Given the description of an element on the screen output the (x, y) to click on. 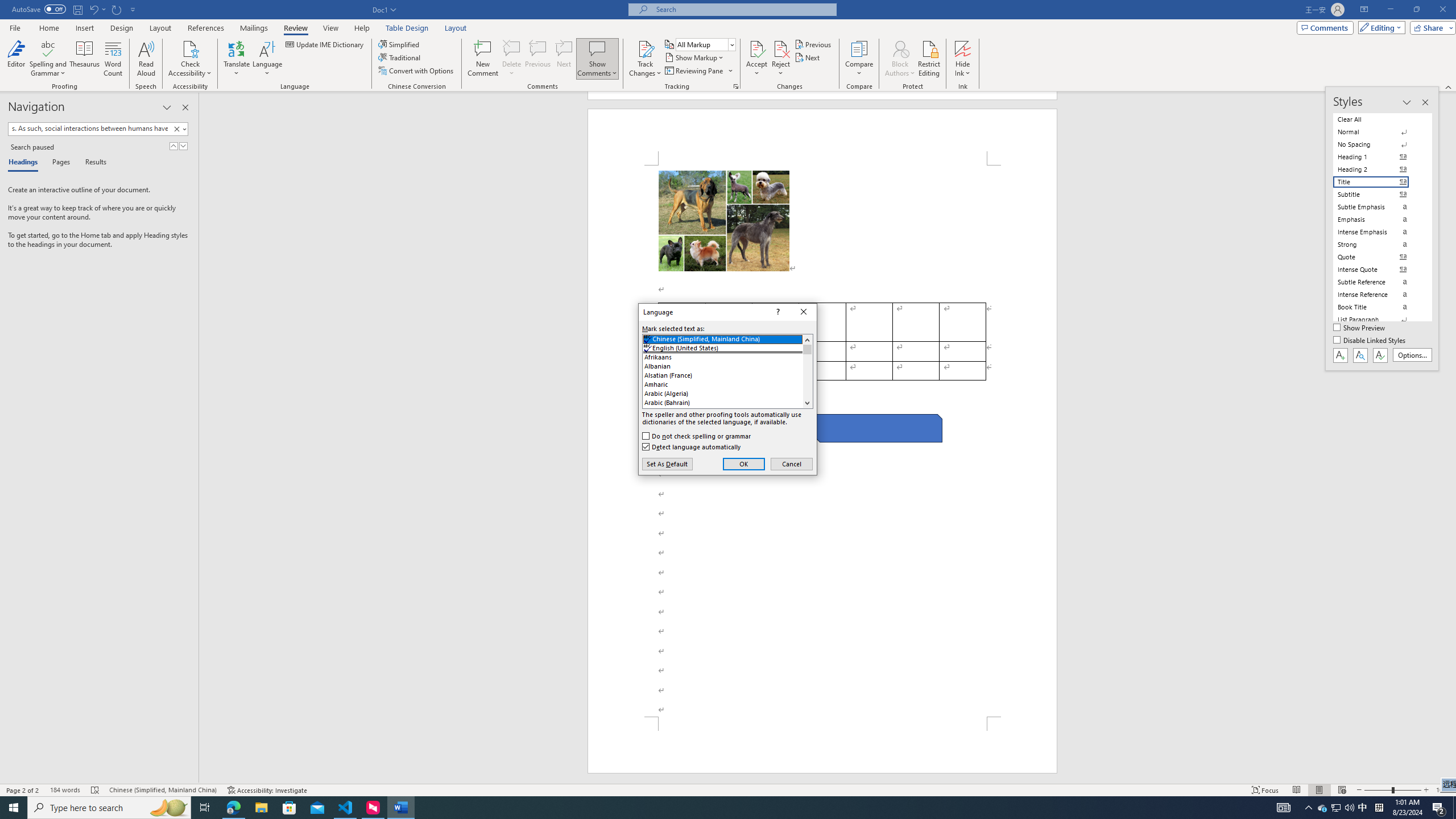
Reviewing Pane (694, 69)
Zoom 104% (1443, 790)
Accept and Move to Next (756, 48)
Reject and Move to Next (780, 48)
Spelling and Grammar (48, 48)
Show Comments (597, 48)
OK (743, 463)
